Given the description of an element on the screen output the (x, y) to click on. 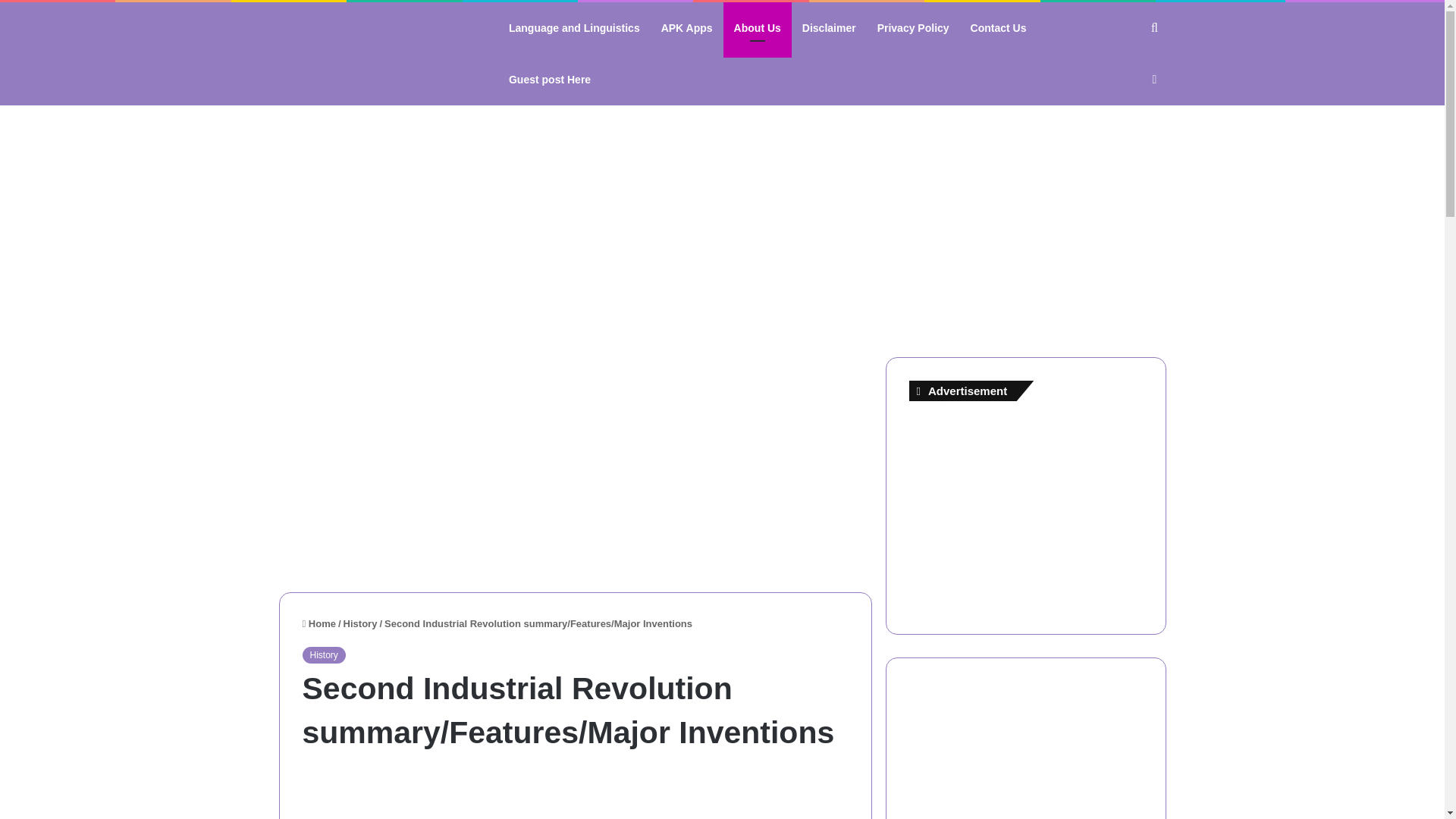
Language and Linguistics (573, 28)
APK Apps (686, 28)
Advertisement (574, 794)
Disclaimer (829, 28)
Guest post Here (549, 79)
Home (317, 623)
Contact Us (997, 28)
History (323, 655)
ENGLOPEDIA (379, 53)
Privacy Policy (912, 28)
About Us (757, 28)
ENGLOPEDIA (379, 53)
History (360, 623)
Advertisement (575, 463)
